Given the description of an element on the screen output the (x, y) to click on. 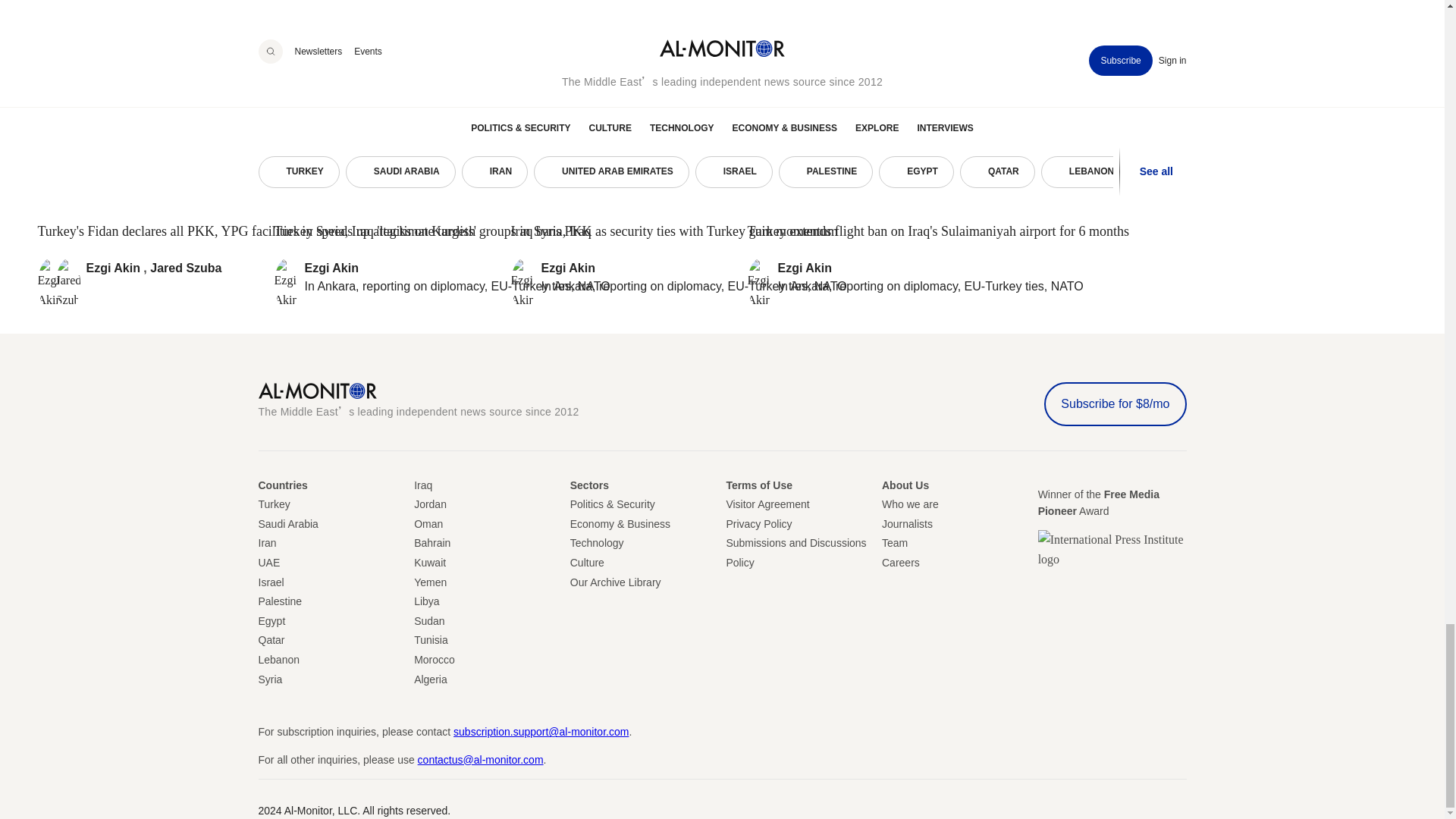
United Arab Amirates (268, 562)
